Given the description of an element on the screen output the (x, y) to click on. 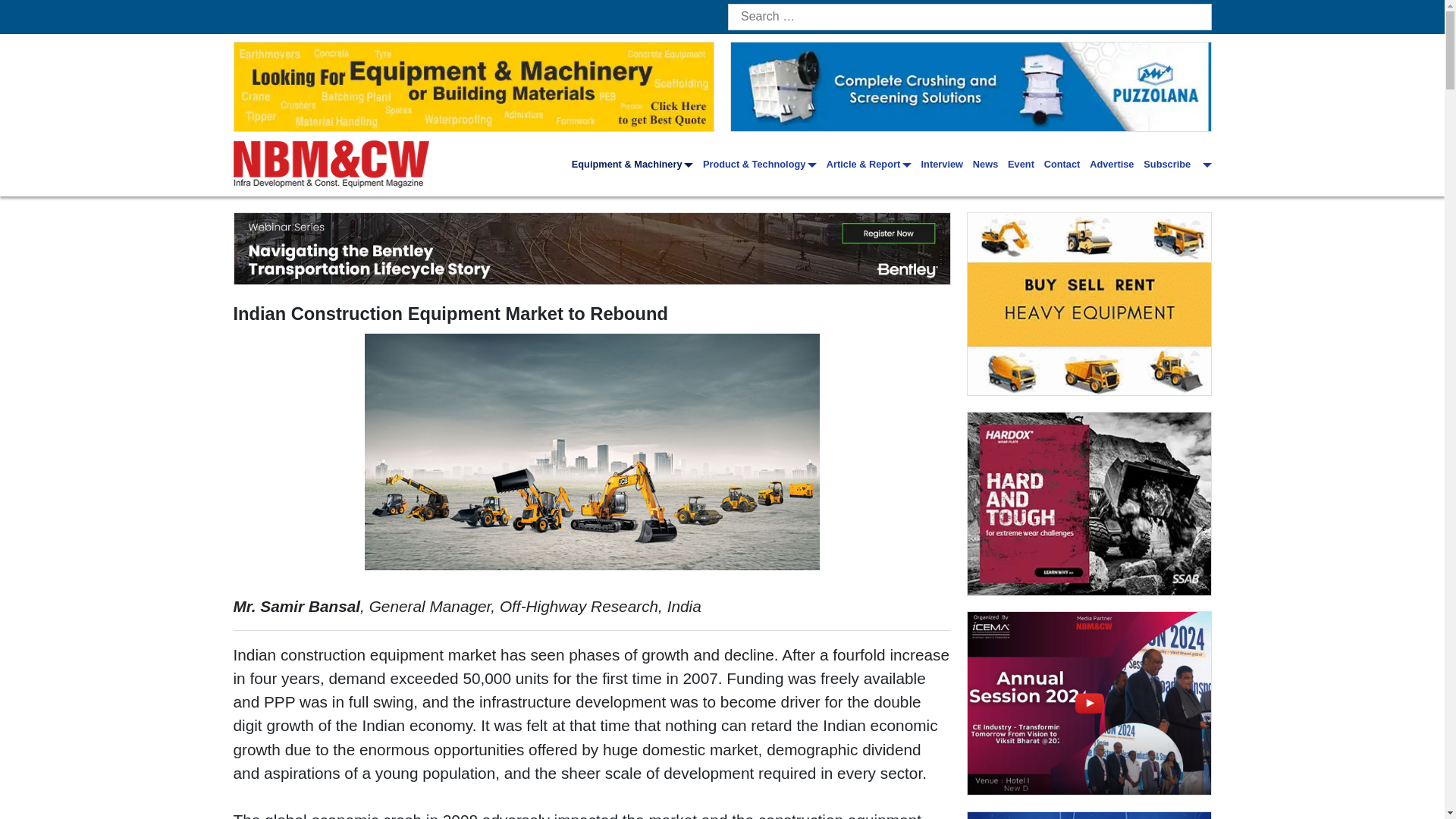
Kone - DX Class Elevator (1089, 815)
Puzzolana - Complete Crushing and Screening Solutions (970, 86)
Navigating the Bentley Transportation Lifecycle Story (591, 248)
Infrabazaar - One STOP SHOP for all your INFRA needs (1089, 303)
